Given the description of an element on the screen output the (x, y) to click on. 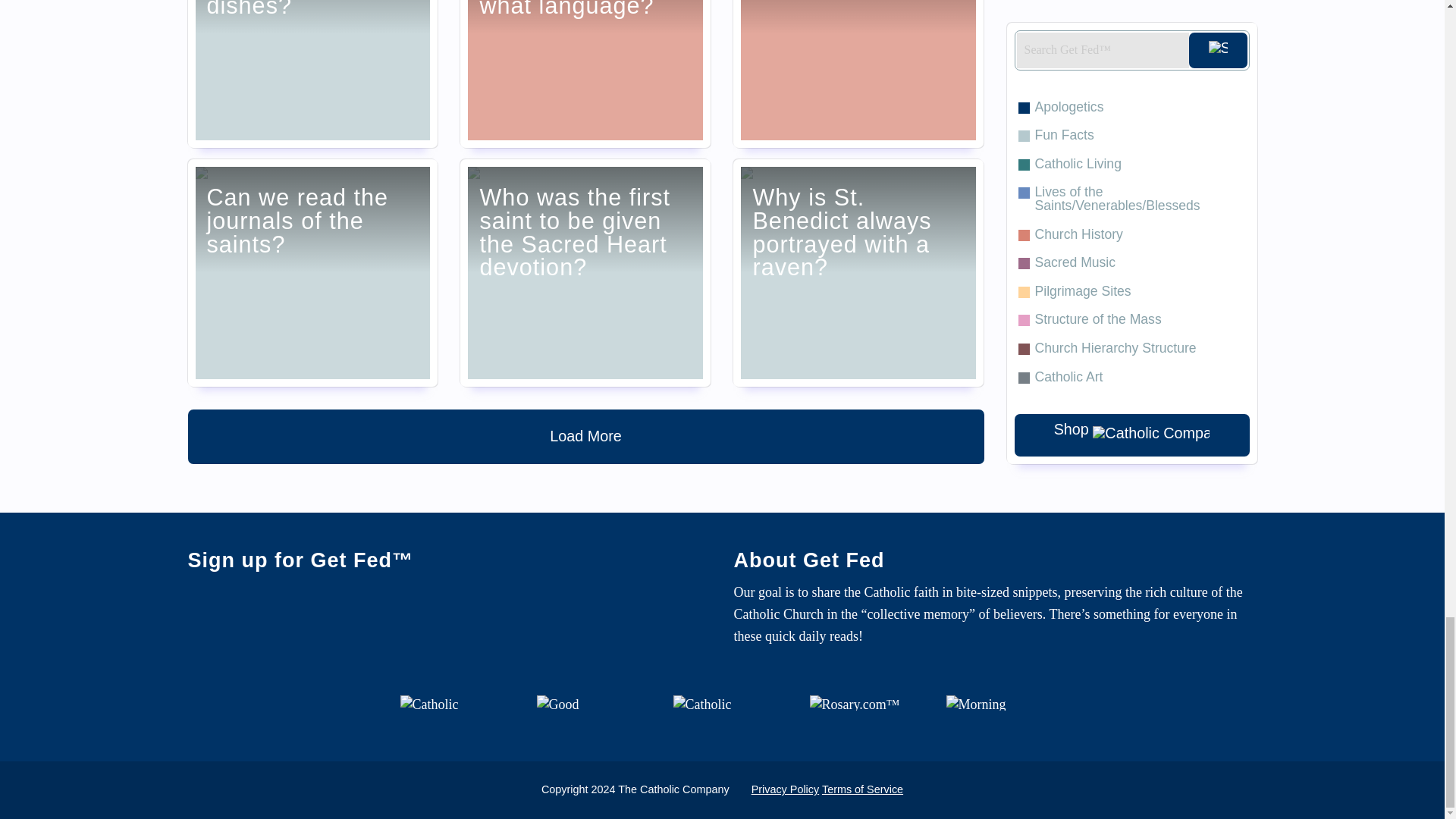
The ATMs at the Vatican speak what language? (585, 74)
Can we read the journals of the saints? (312, 272)
What is the papal tiara? (858, 74)
Why is St. Benedict always portrayed with a raven? (858, 272)
Load More (585, 436)
Which cardinal washed his own dishes? (312, 74)
